Given the description of an element on the screen output the (x, y) to click on. 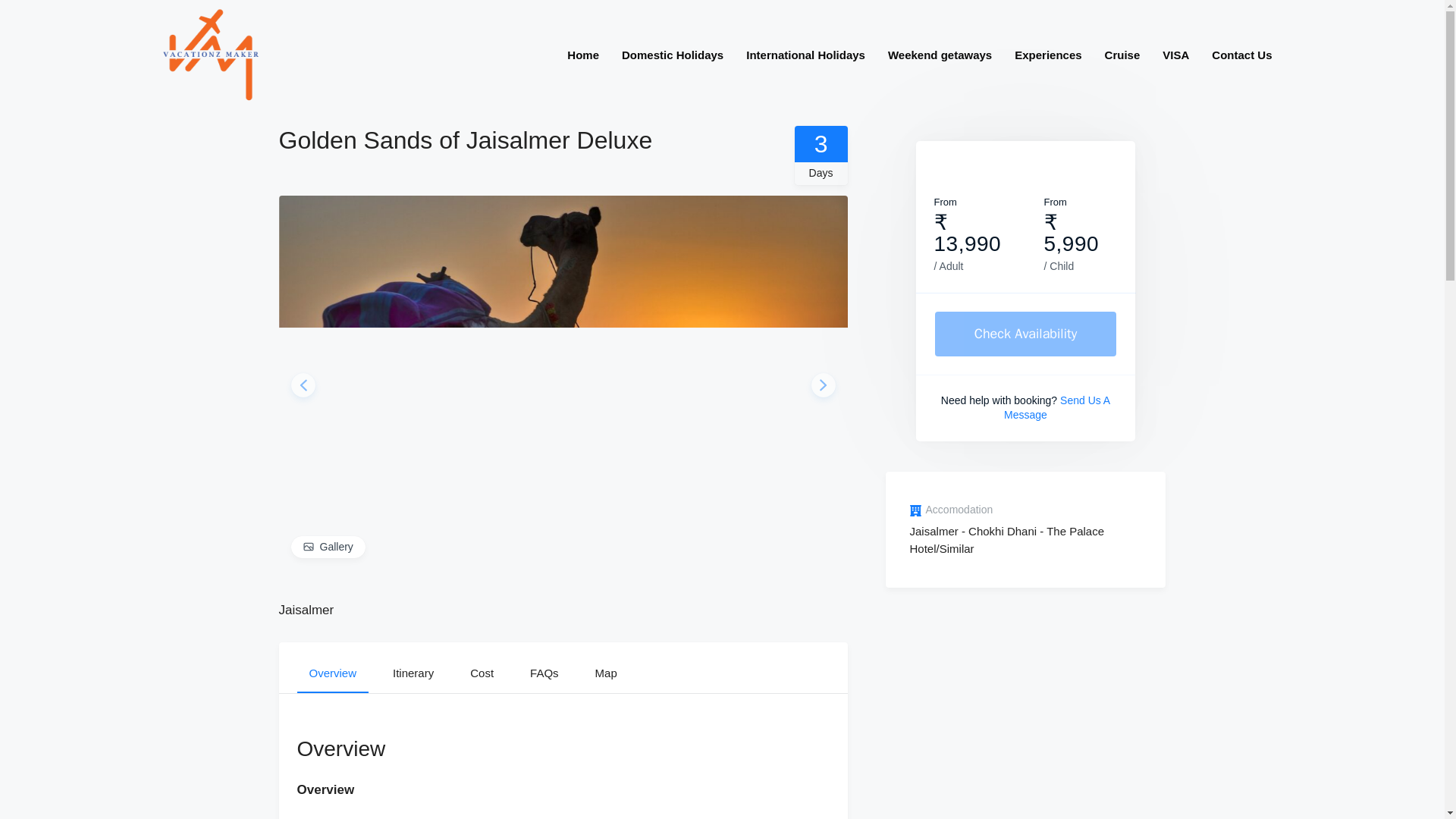
VISA (1175, 54)
Home (583, 54)
Domestic Holidays (672, 54)
Experiences (1048, 54)
Cost (481, 667)
Overview (333, 667)
International Holidays (805, 54)
Map (605, 667)
Gallery (328, 546)
FAQs (544, 667)
Contact Us (1240, 54)
Cruise (1122, 54)
Itinerary (412, 667)
Weekend getaways (939, 54)
